Given the description of an element on the screen output the (x, y) to click on. 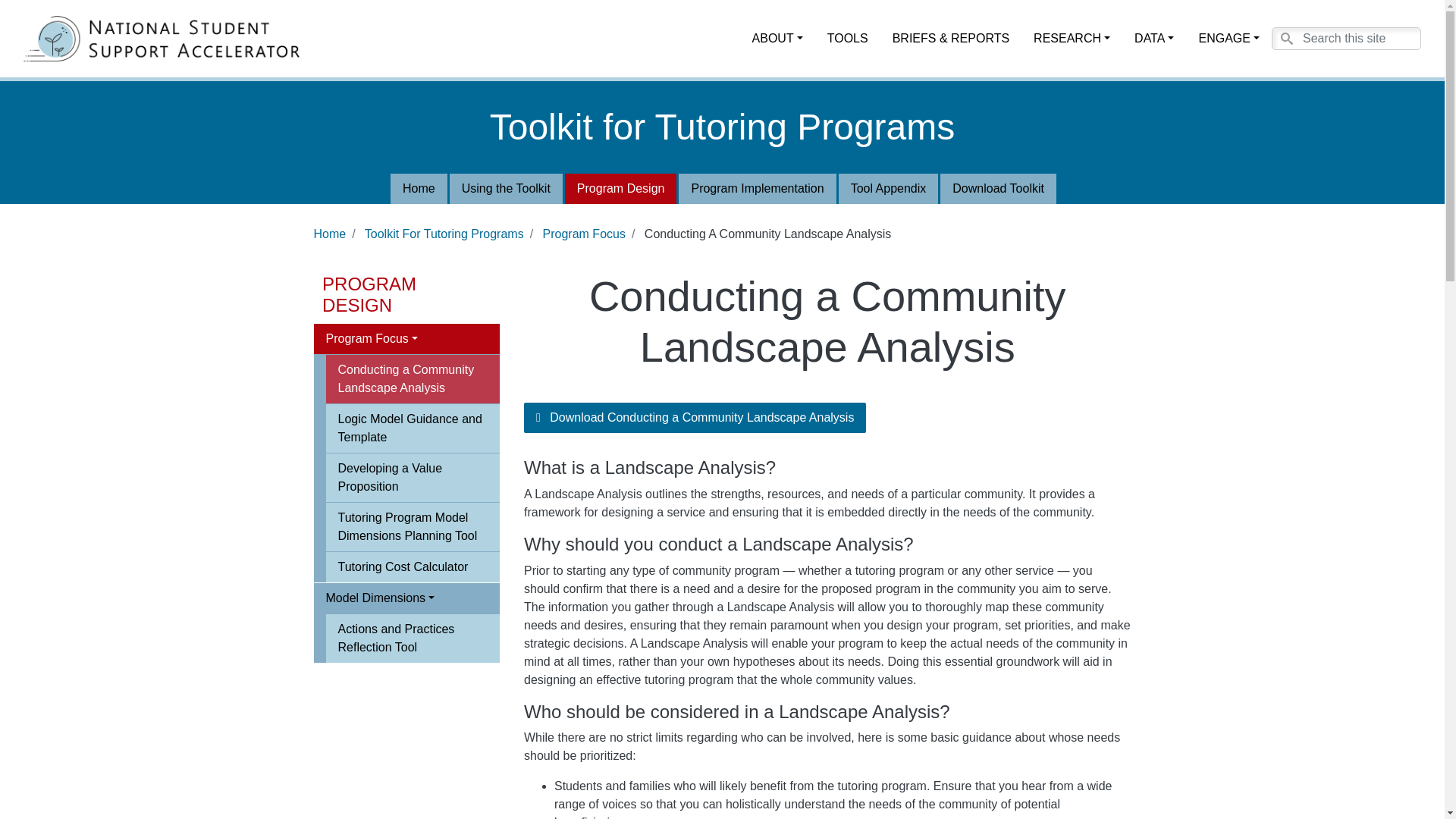
TOOLS (847, 38)
Expand menu Data (1154, 38)
Program Implementation (756, 188)
DATA (1154, 38)
ABOUT (777, 38)
Home (167, 38)
Expand menu Research (1072, 38)
ENGAGE (1228, 38)
Program Design (620, 188)
Enter the terms you wish to search for. (1346, 38)
